Given the description of an element on the screen output the (x, y) to click on. 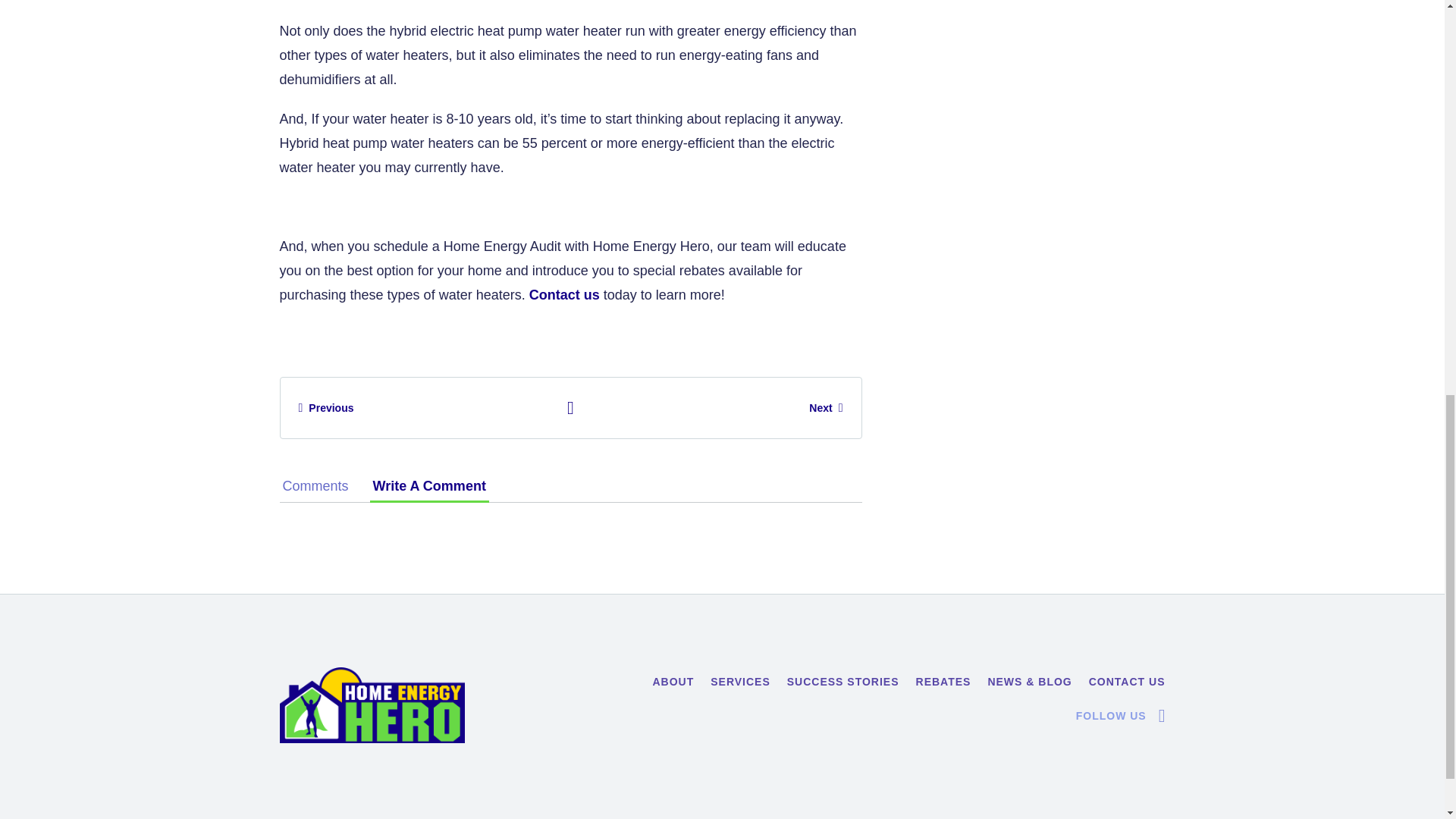
CONTACT US (1127, 681)
Next (826, 407)
Write A Comment (429, 485)
SERVICES (740, 681)
SUCCESS STORIES (843, 681)
Previous (325, 407)
Contact us (564, 294)
Comments (314, 485)
REBATES (943, 681)
ABOUT (673, 681)
